Given the description of an element on the screen output the (x, y) to click on. 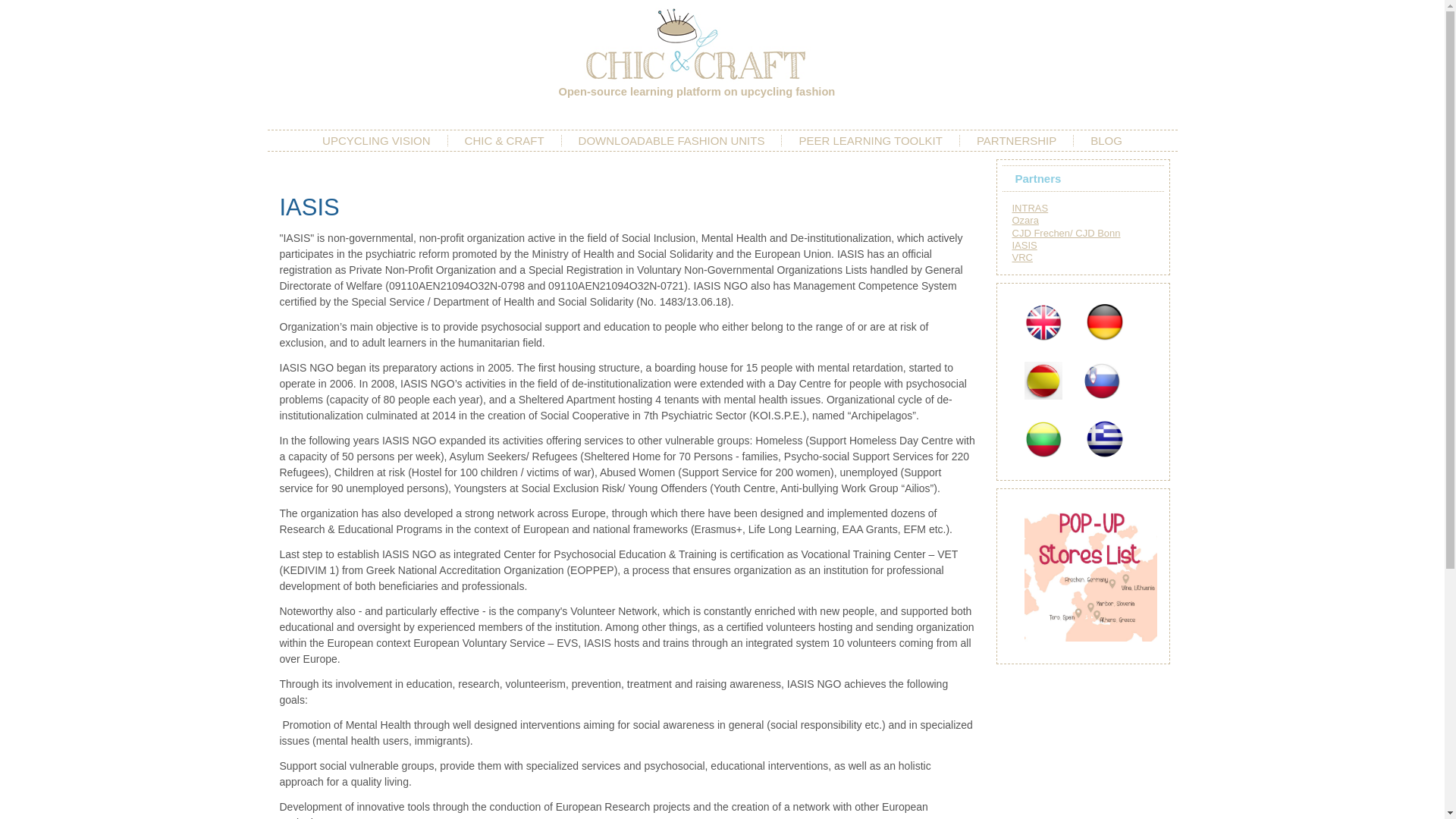
Ozara (1024, 220)
UPCYCLING VISION (375, 140)
DOWNLOADABLE FASHION UNITS (671, 140)
INTRAS (1029, 207)
BLOG (1106, 140)
IASIS (309, 207)
PEER LEARNING TOOLKIT (870, 140)
VRC (1021, 256)
IASIS (1023, 244)
PARTNERSHIP (1016, 140)
